Given the description of an element on the screen output the (x, y) to click on. 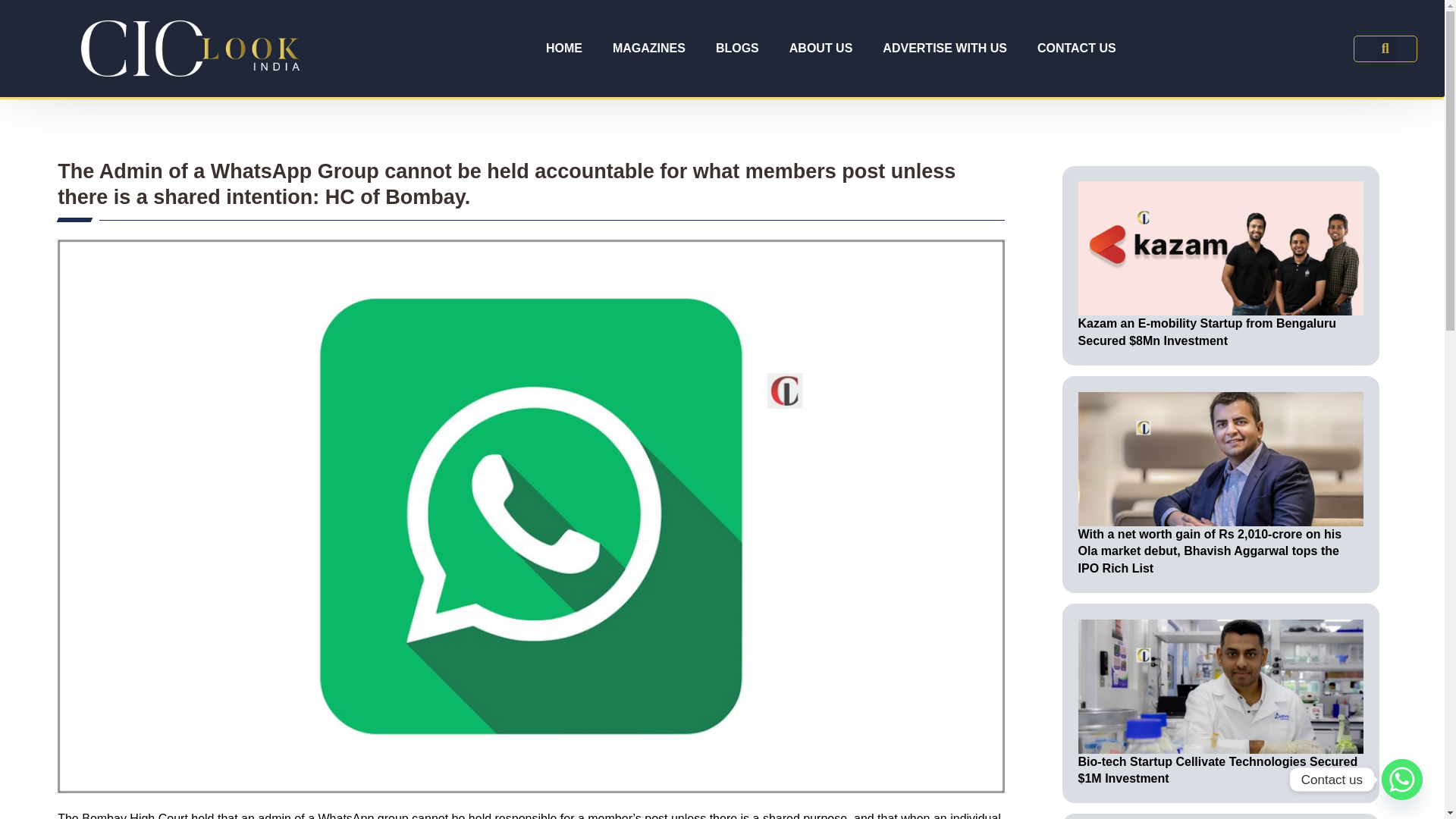
HOME (563, 48)
ADVERTISE WITH US (944, 48)
ABOUT US (820, 48)
MAGAZINES (648, 48)
CONTACT US (1076, 48)
BLOGS (737, 48)
